Given the description of an element on the screen output the (x, y) to click on. 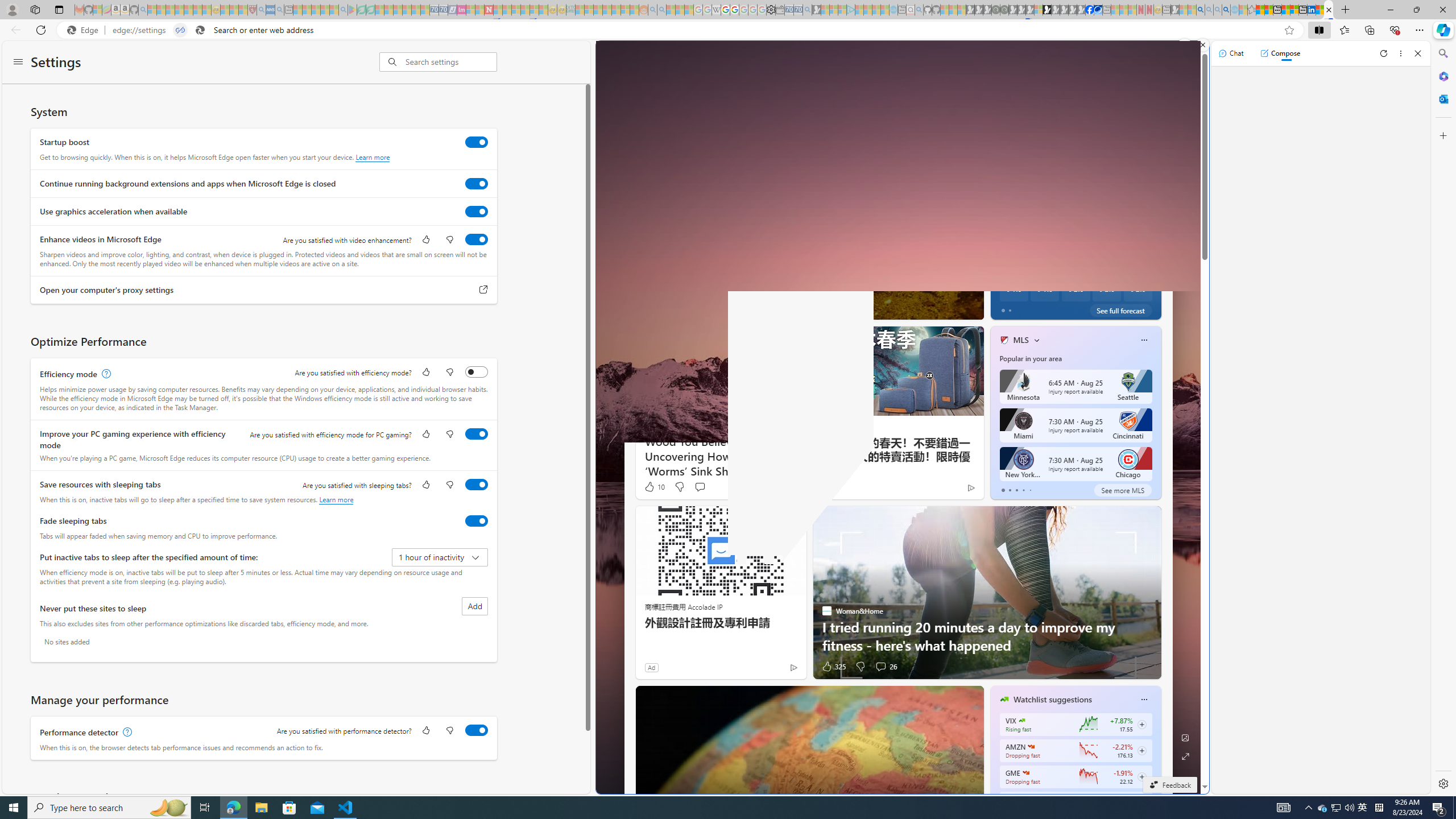
AutomationID: tab-15 (778, 308)
Settings menu (18, 62)
15 Times Snakes Messed With The Wrong Opponent (1159, 287)
View comments 18 Comment (1059, 307)
Secret History (999, 269)
Performance detector (476, 730)
Add a site (1018, 107)
